Given the description of an element on the screen output the (x, y) to click on. 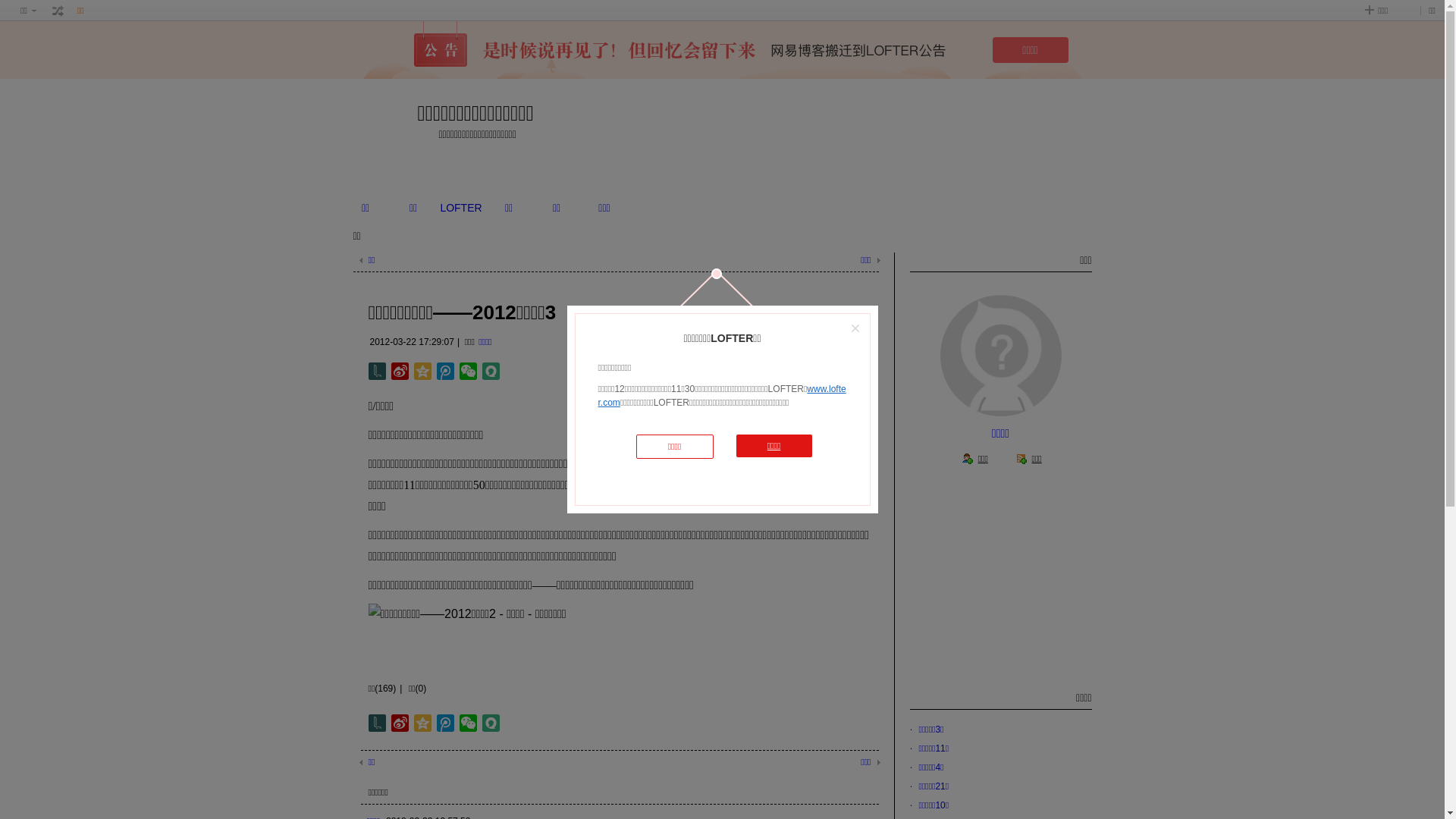
  Element type: text (58, 10)
LOFTER Element type: text (460, 207)
www.lofter.com Element type: text (721, 395)
